Given the description of an element on the screen output the (x, y) to click on. 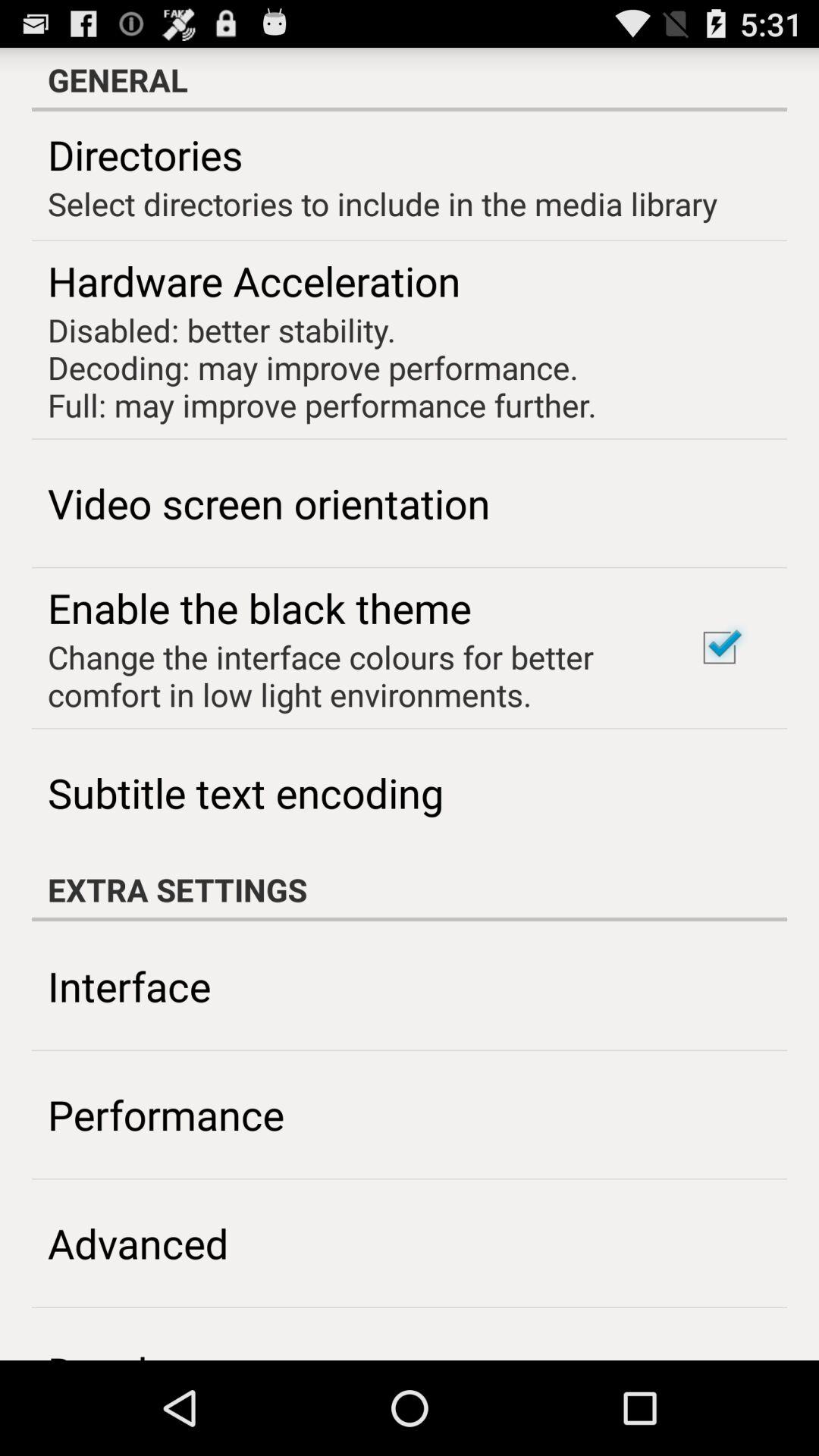
turn off item to the right of change the interface icon (719, 647)
